Given the description of an element on the screen output the (x, y) to click on. 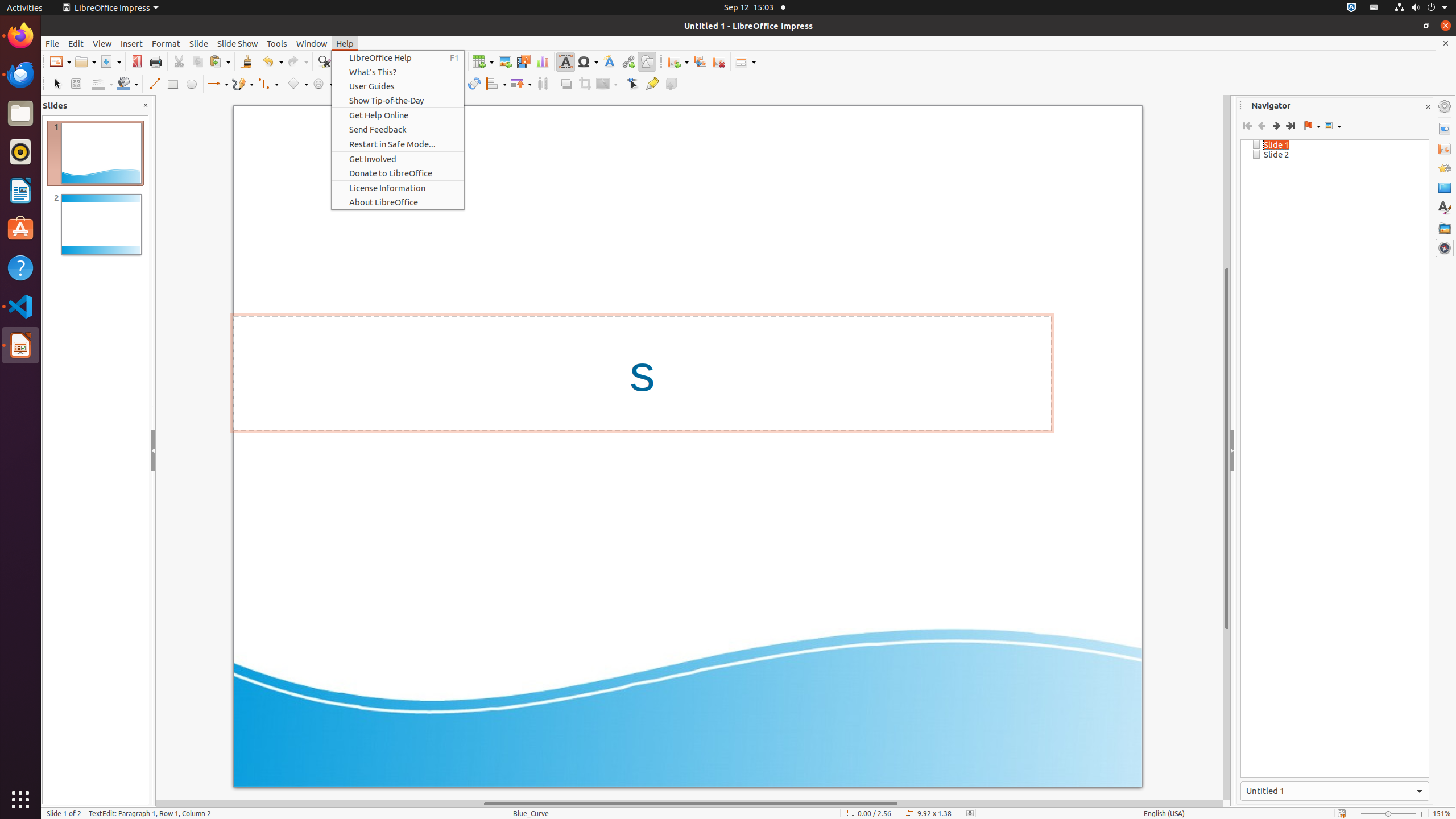
Show Shapes Element type: push-button (1332, 125)
LibreOffice Impress Element type: menu (109, 7)
LibreOffice Impress Element type: push-button (20, 344)
Fill Color Element type: push-button (126, 83)
What's This? Element type: menu-item (397, 71)
